Given the description of an element on the screen output the (x, y) to click on. 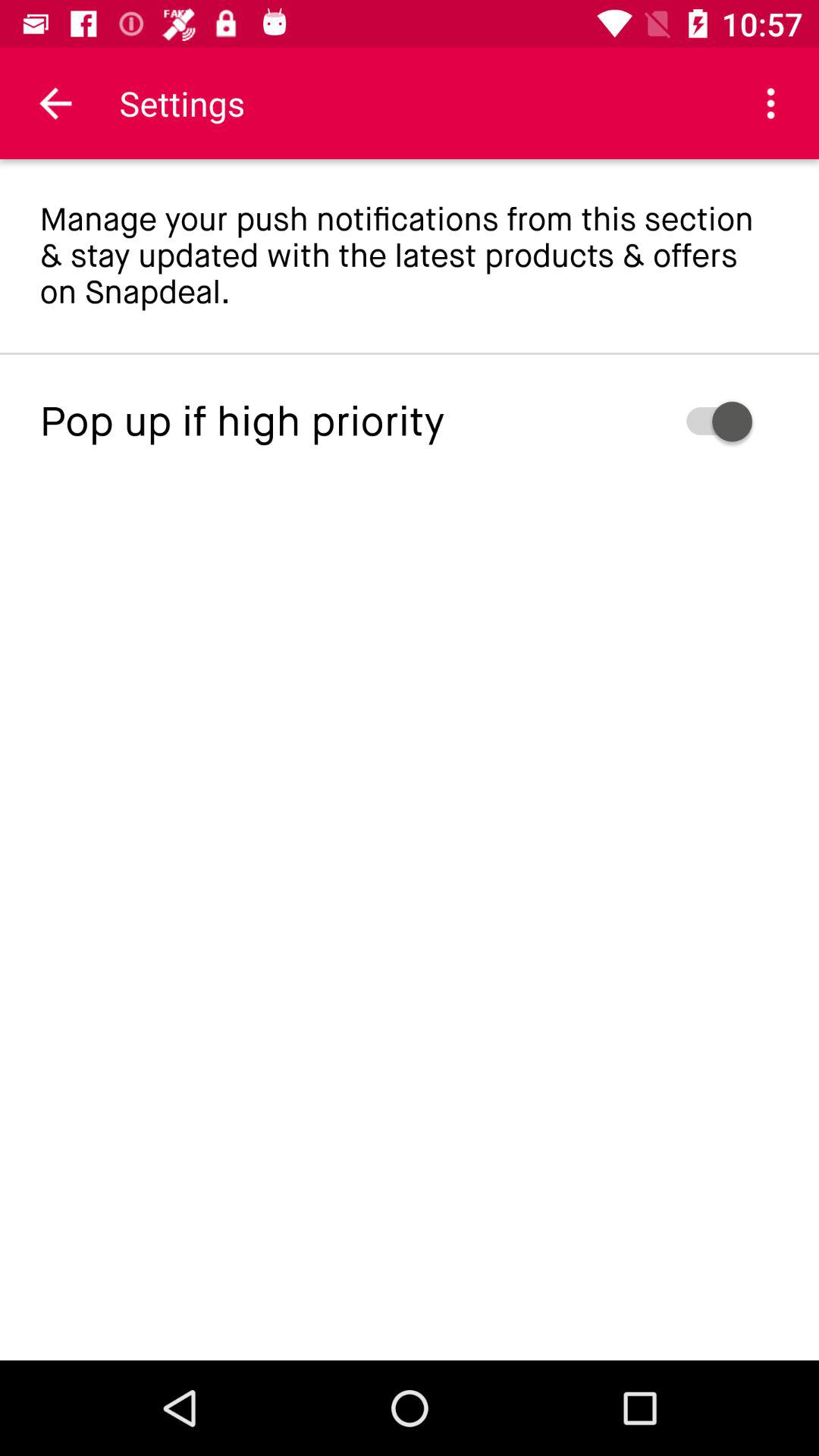
launch icon next to pop up if icon (669, 421)
